Given the description of an element on the screen output the (x, y) to click on. 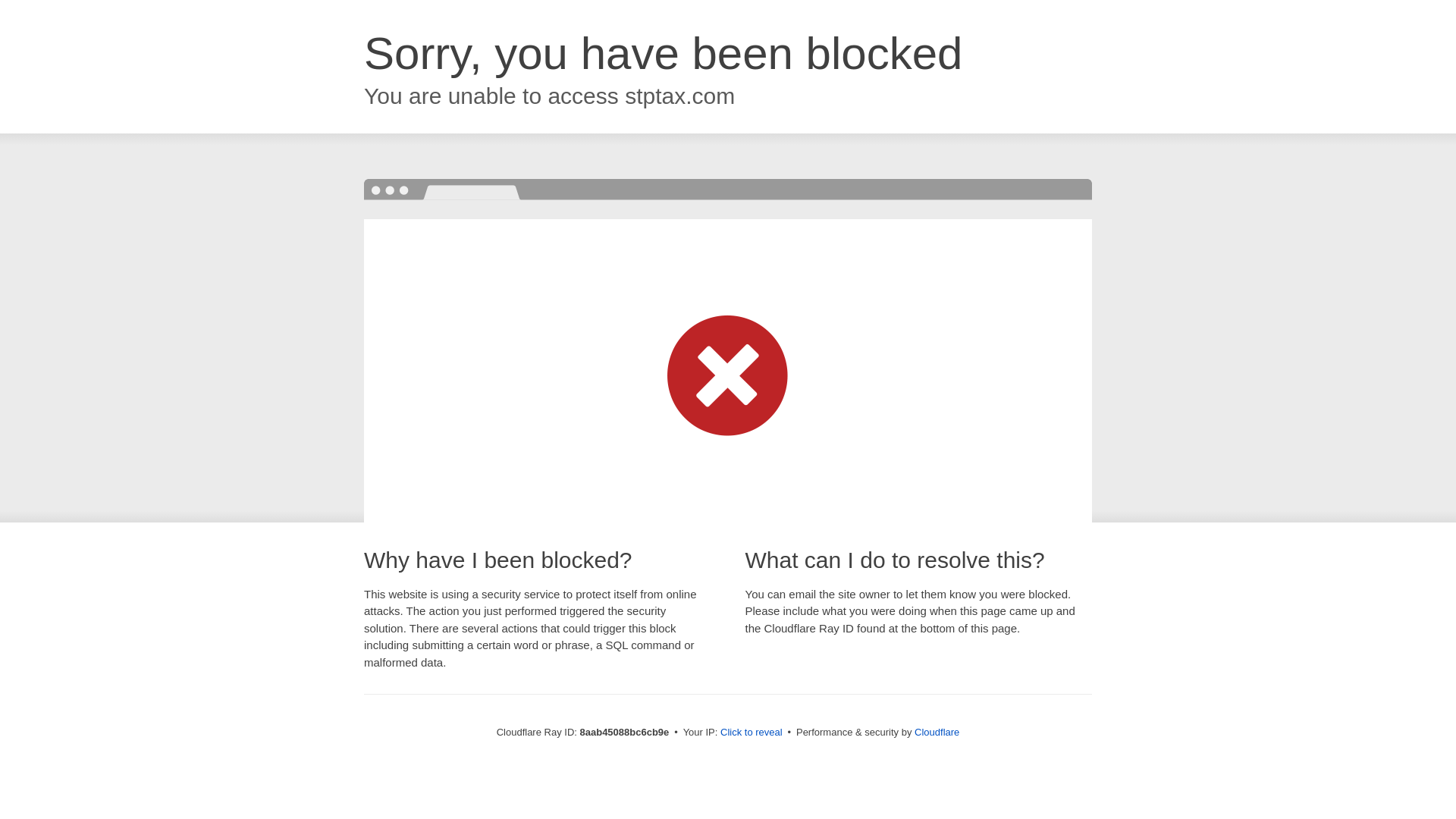
Cloudflare (936, 731)
Click to reveal (751, 732)
